Given the description of an element on the screen output the (x, y) to click on. 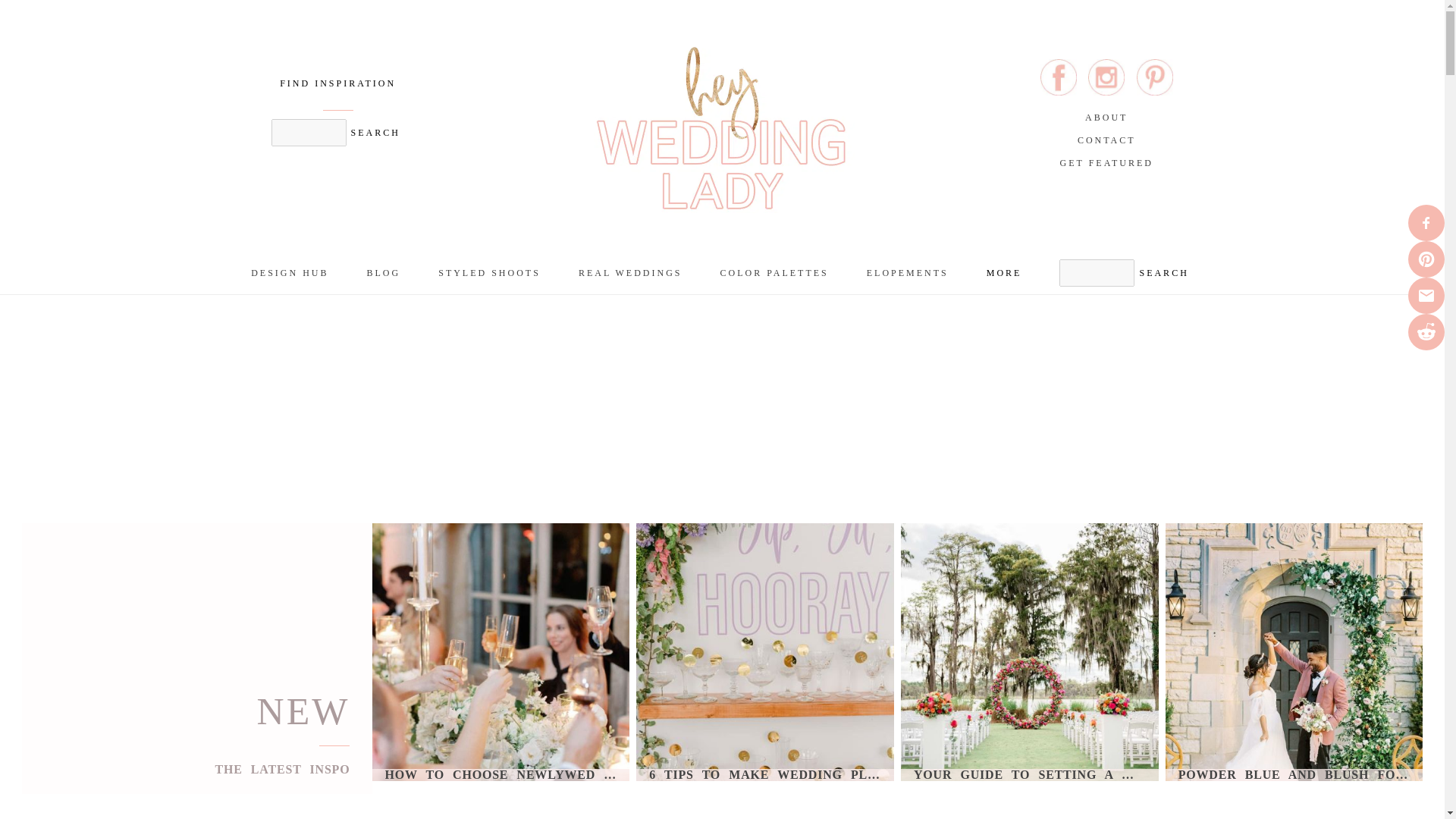
Search (1163, 272)
ELOPEMENTS (907, 272)
Search (375, 132)
Search (1163, 272)
COLOR PALETTES (774, 272)
6 Tips to Make Wedding Planning Decisions Together (764, 775)
BLOG (383, 272)
Search (1163, 272)
ABOUT (1106, 117)
GET FEATURED (1106, 162)
DESIGN HUB (289, 272)
Search (375, 132)
CONTACT (1106, 139)
